Given the description of an element on the screen output the (x, y) to click on. 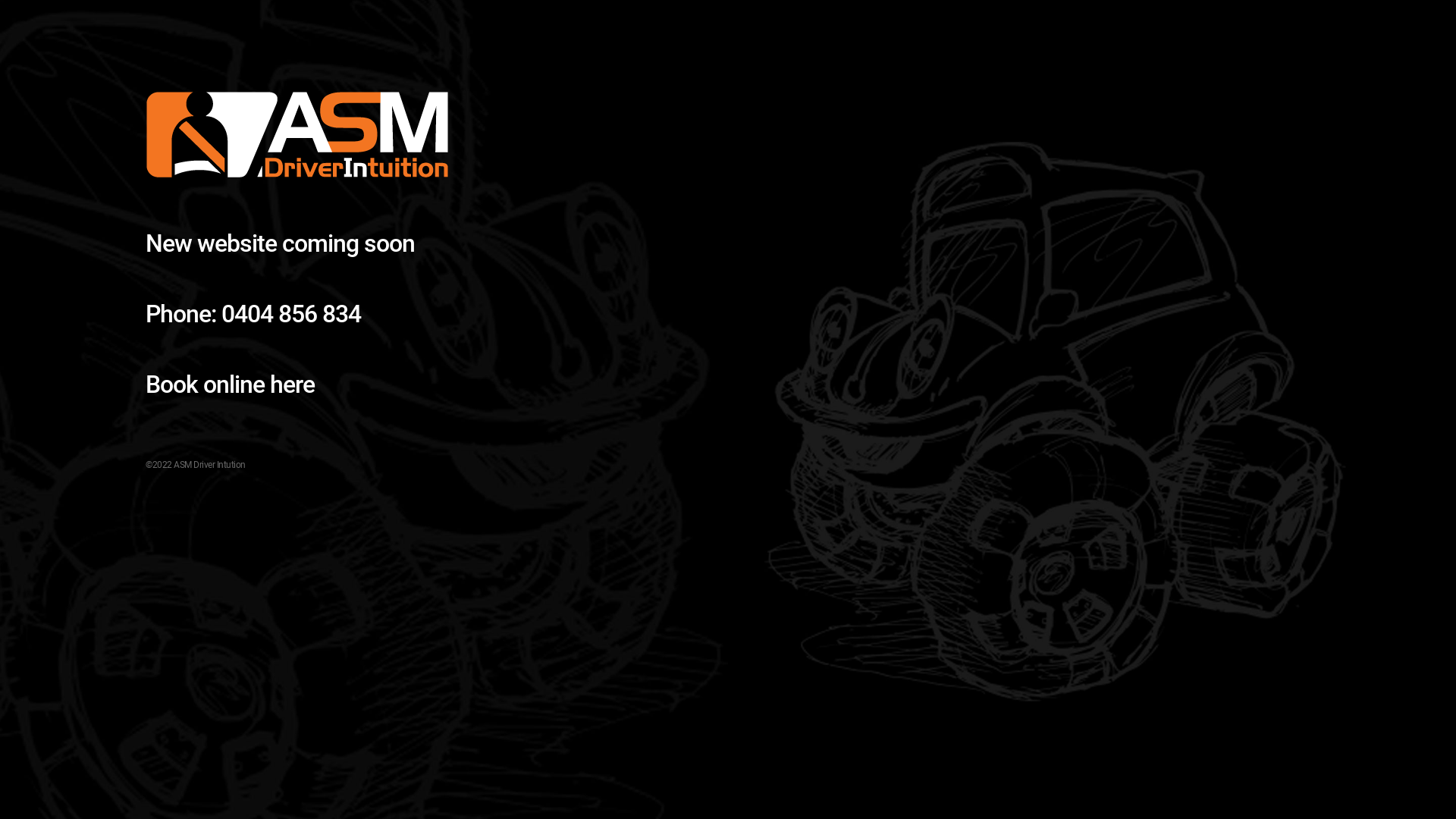
Book online here Element type: text (229, 384)
